Given the description of an element on the screen output the (x, y) to click on. 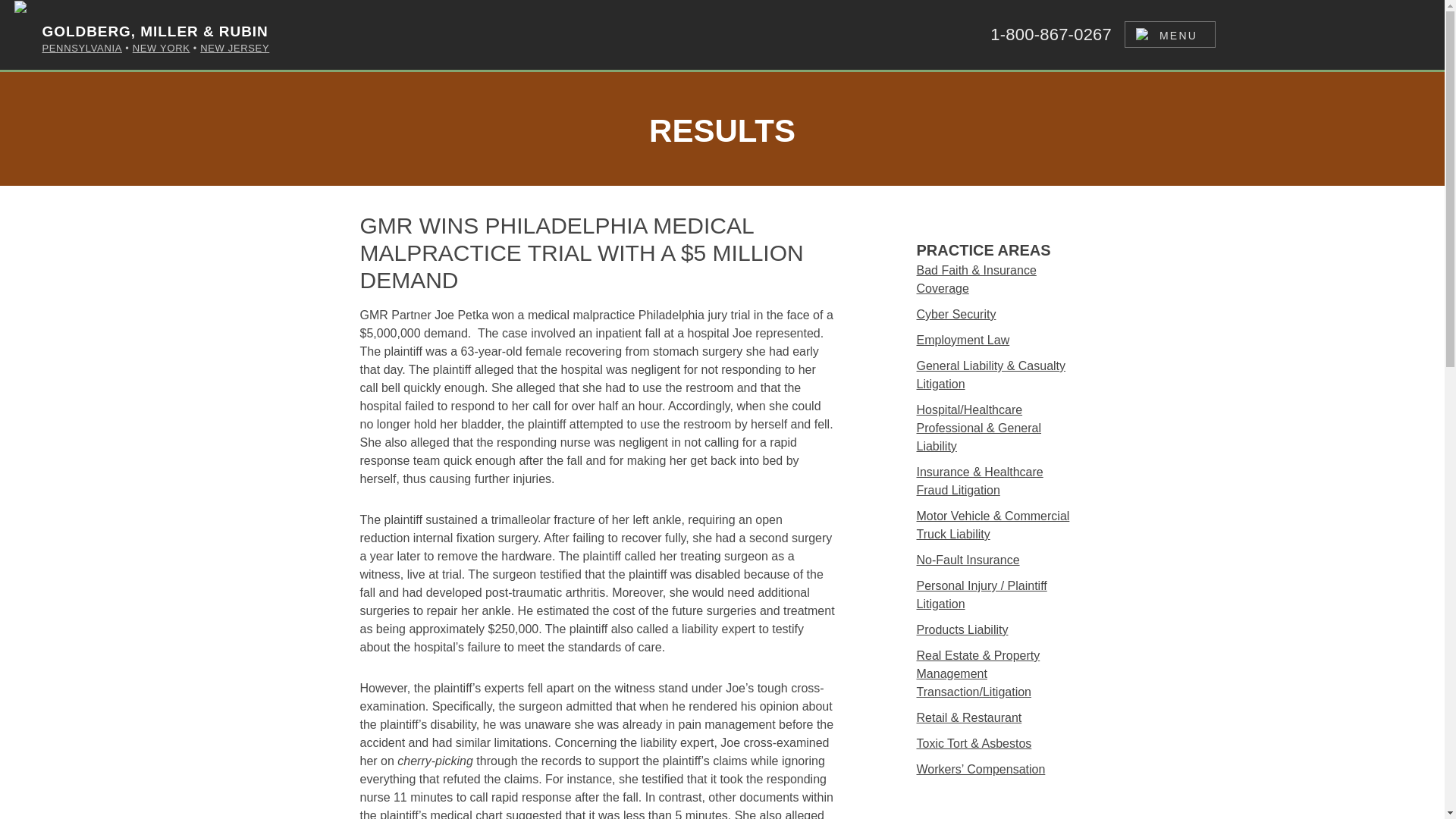
NEW YORK (161, 48)
Cyber Security (993, 318)
1-800-867-0267 (1050, 34)
Employment Law (993, 344)
PENNSYLVANIA (82, 48)
NEW JERSEY (234, 48)
